Given the description of an element on the screen output the (x, y) to click on. 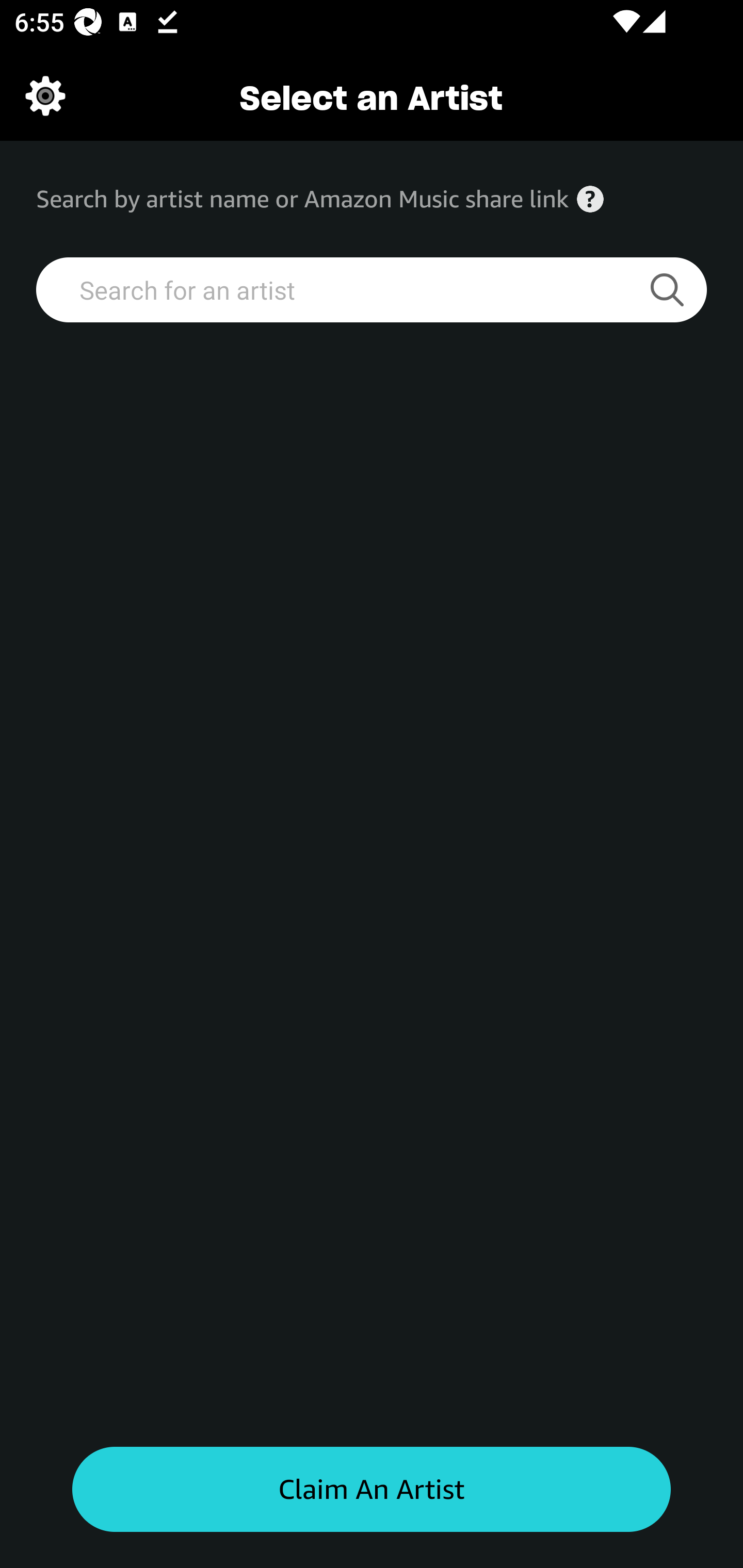
Help  icon (589, 199)
Claim an artist button Claim An Artist (371, 1489)
